Given the description of an element on the screen output the (x, y) to click on. 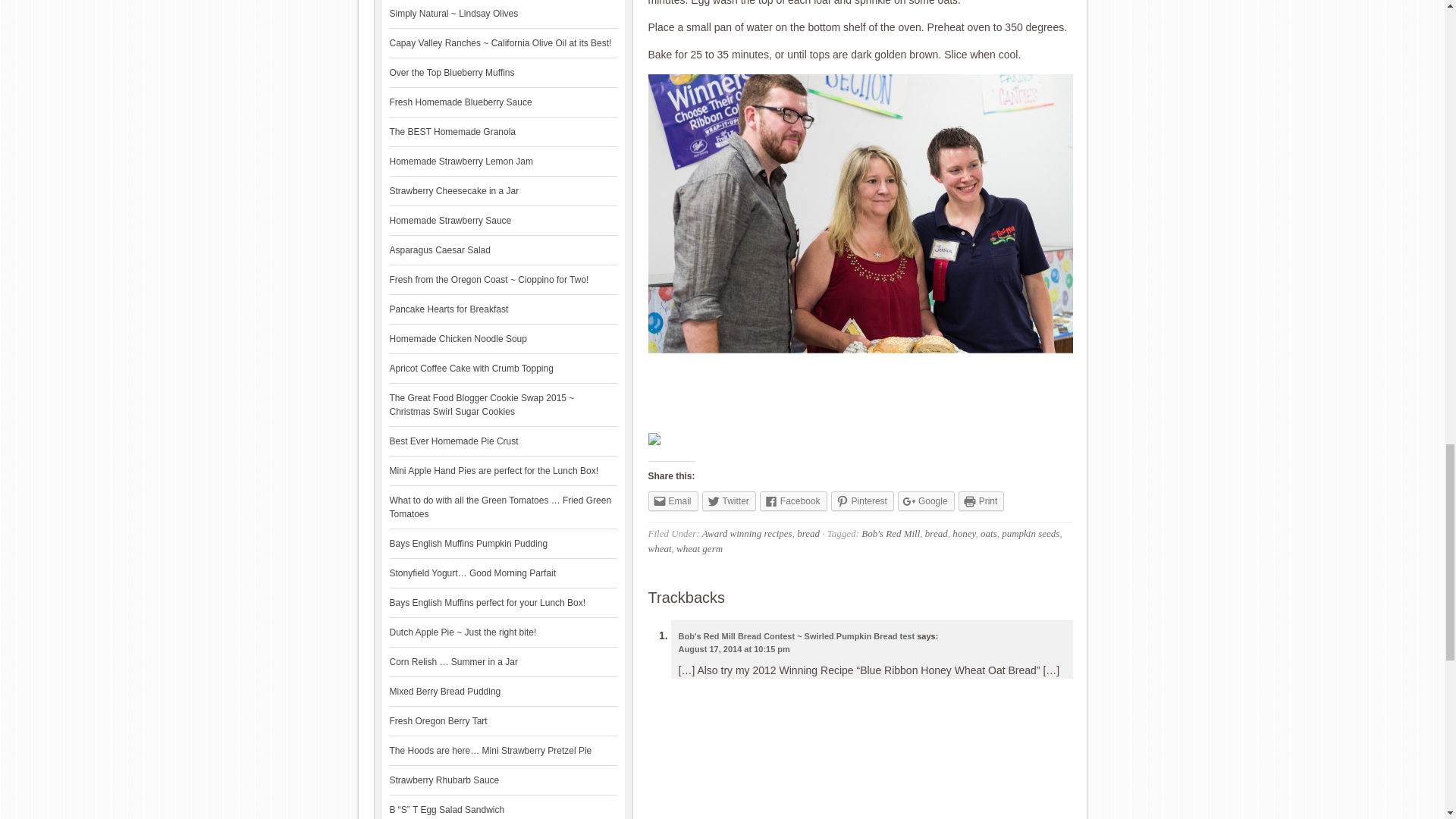
Click to email this to a friend (672, 501)
Click to share on Twitter (728, 501)
Click to print (981, 501)
Click to share on Pinterest (862, 501)
Click to share on Facebook (793, 501)
